Given the description of an element on the screen output the (x, y) to click on. 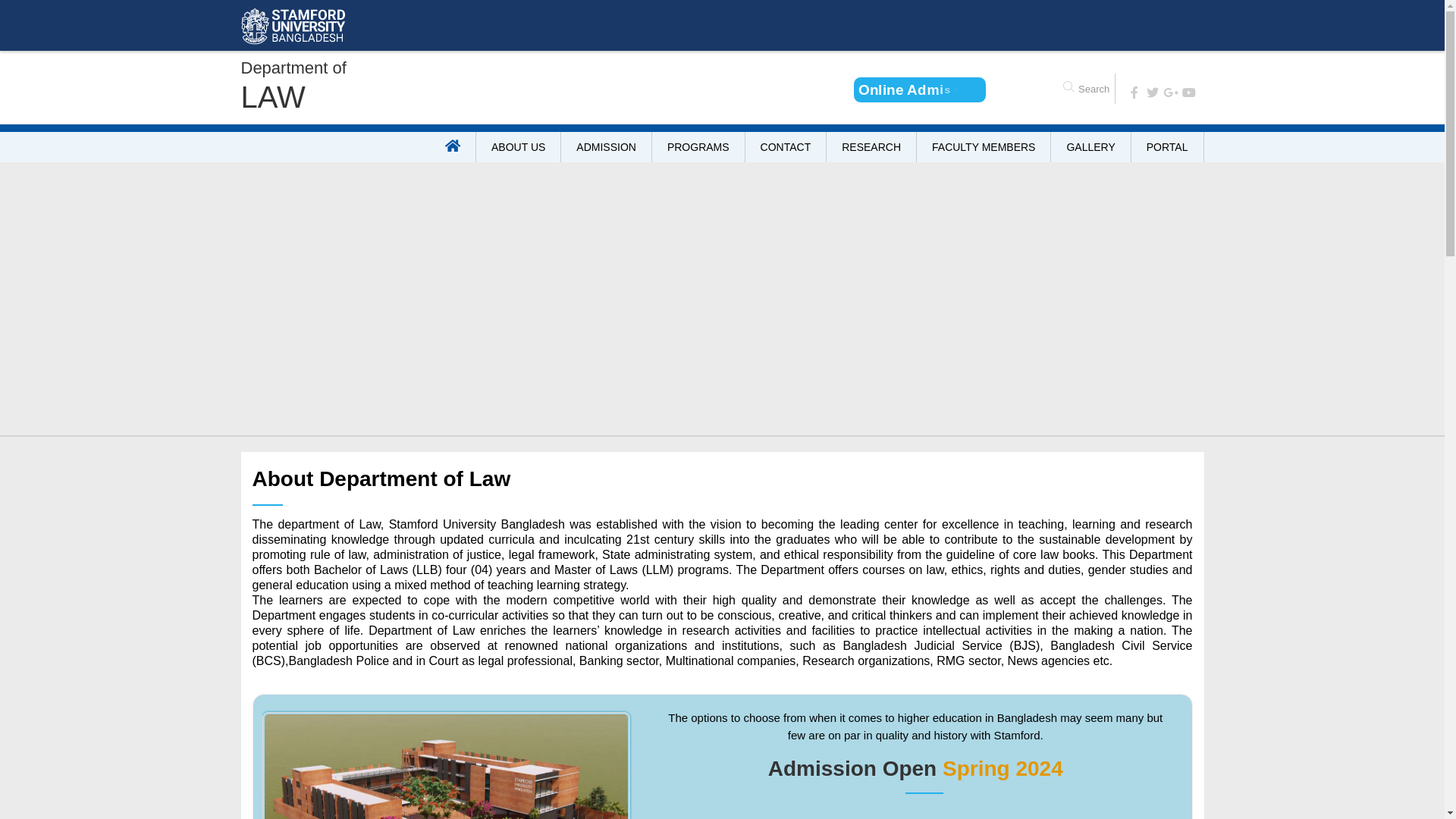
GALLERY Element type: text (1090, 146)
ABOUT US Element type: text (518, 146)
ADMISSION Element type: text (606, 146)
CONTACT Element type: text (786, 146)
Online Admission Element type: text (920, 88)
Online Admission Element type: text (919, 89)
FACULTY MEMBERS Element type: text (983, 146)
RESEARCH Element type: text (871, 146)
PROGRAMS Element type: text (698, 146)
PORTAL Element type: text (1167, 146)
